Given the description of an element on the screen output the (x, y) to click on. 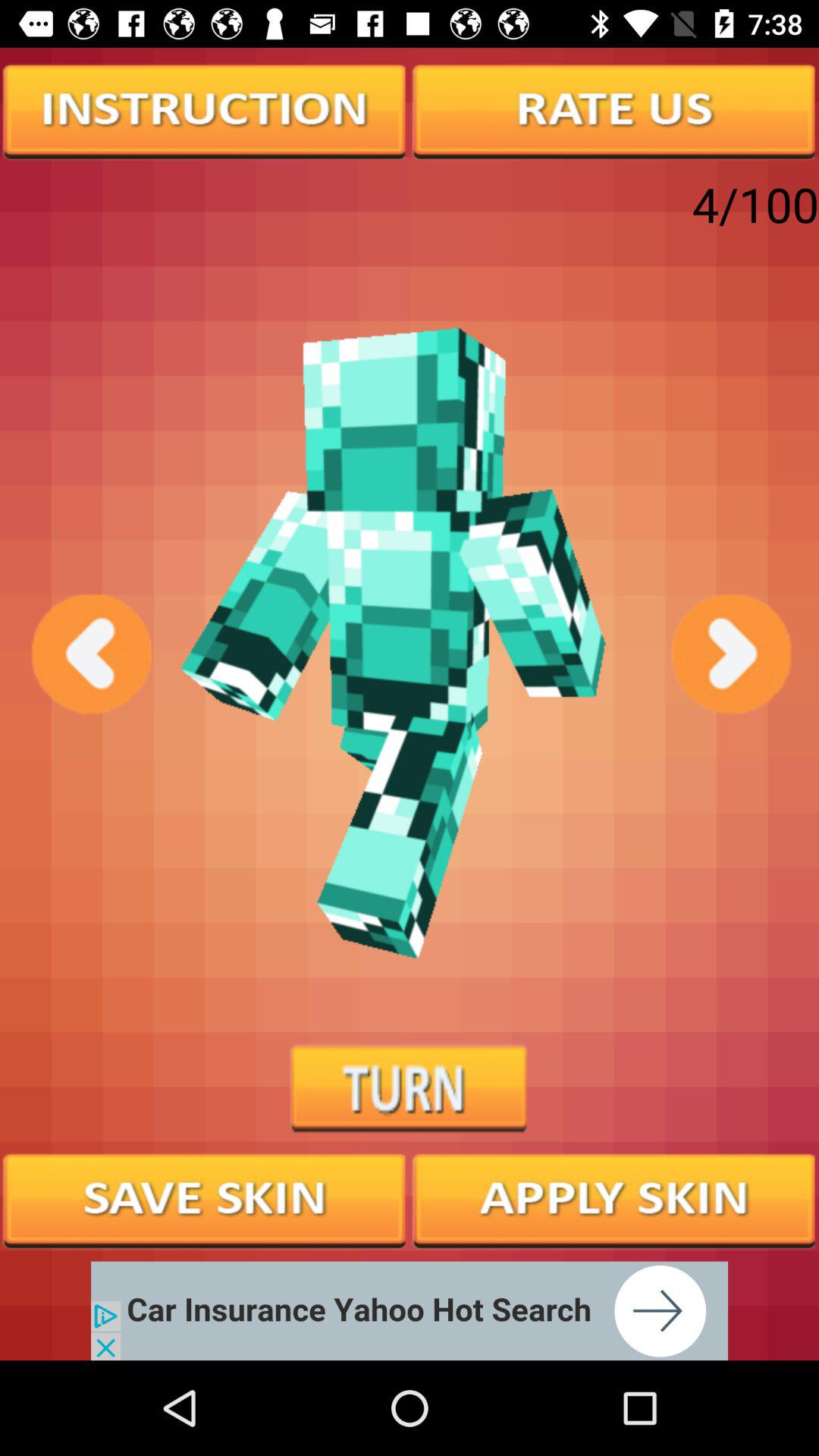
go forward (729, 654)
